Given the description of an element on the screen output the (x, y) to click on. 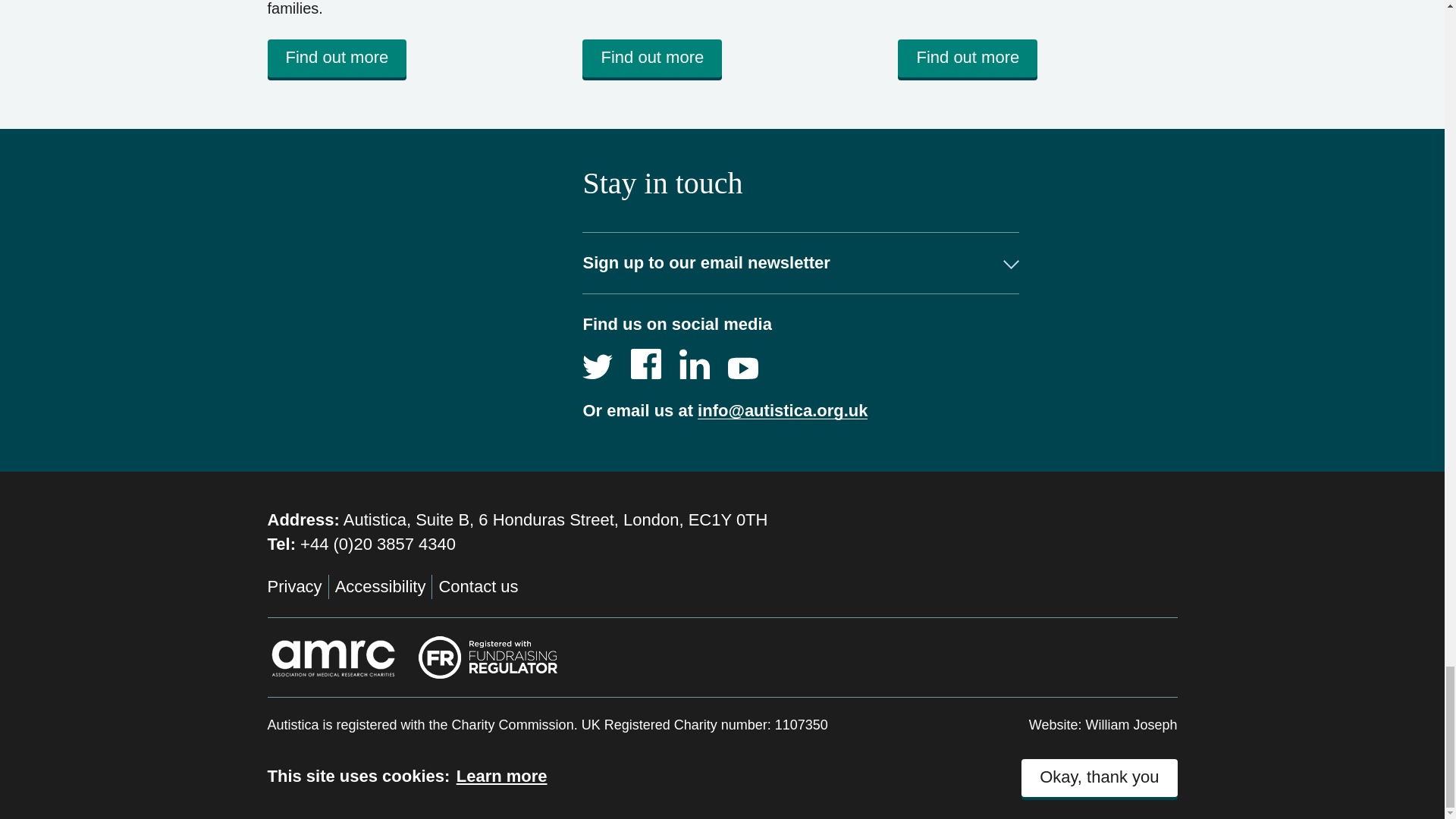
linkedin (694, 363)
Twitter (597, 363)
Facebook (645, 363)
YouTube (743, 363)
